Given the description of an element on the screen output the (x, y) to click on. 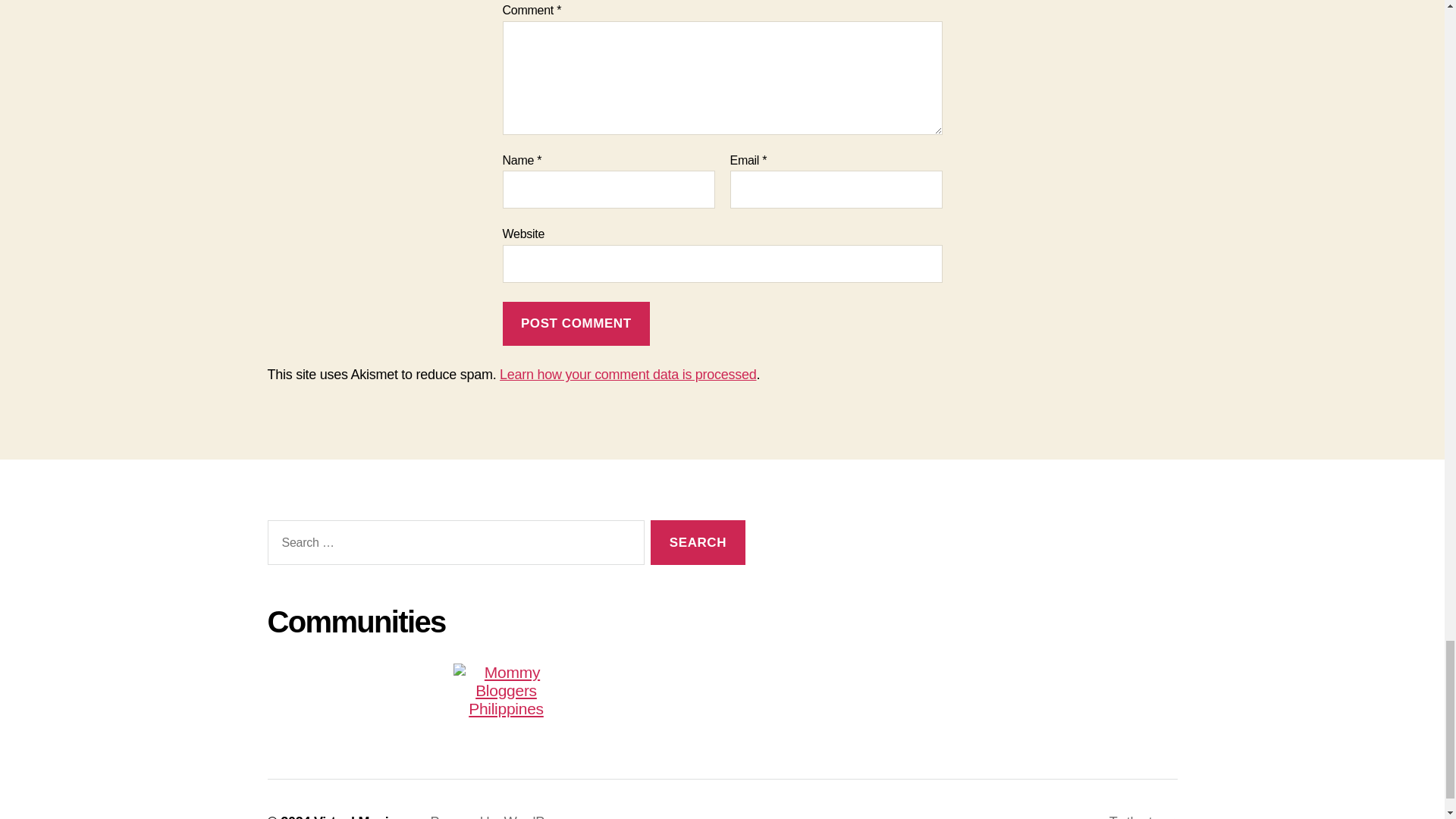
Post Comment (575, 324)
Mommy Bloggers Philippines (505, 690)
Search (697, 542)
Search (697, 542)
